Given the description of an element on the screen output the (x, y) to click on. 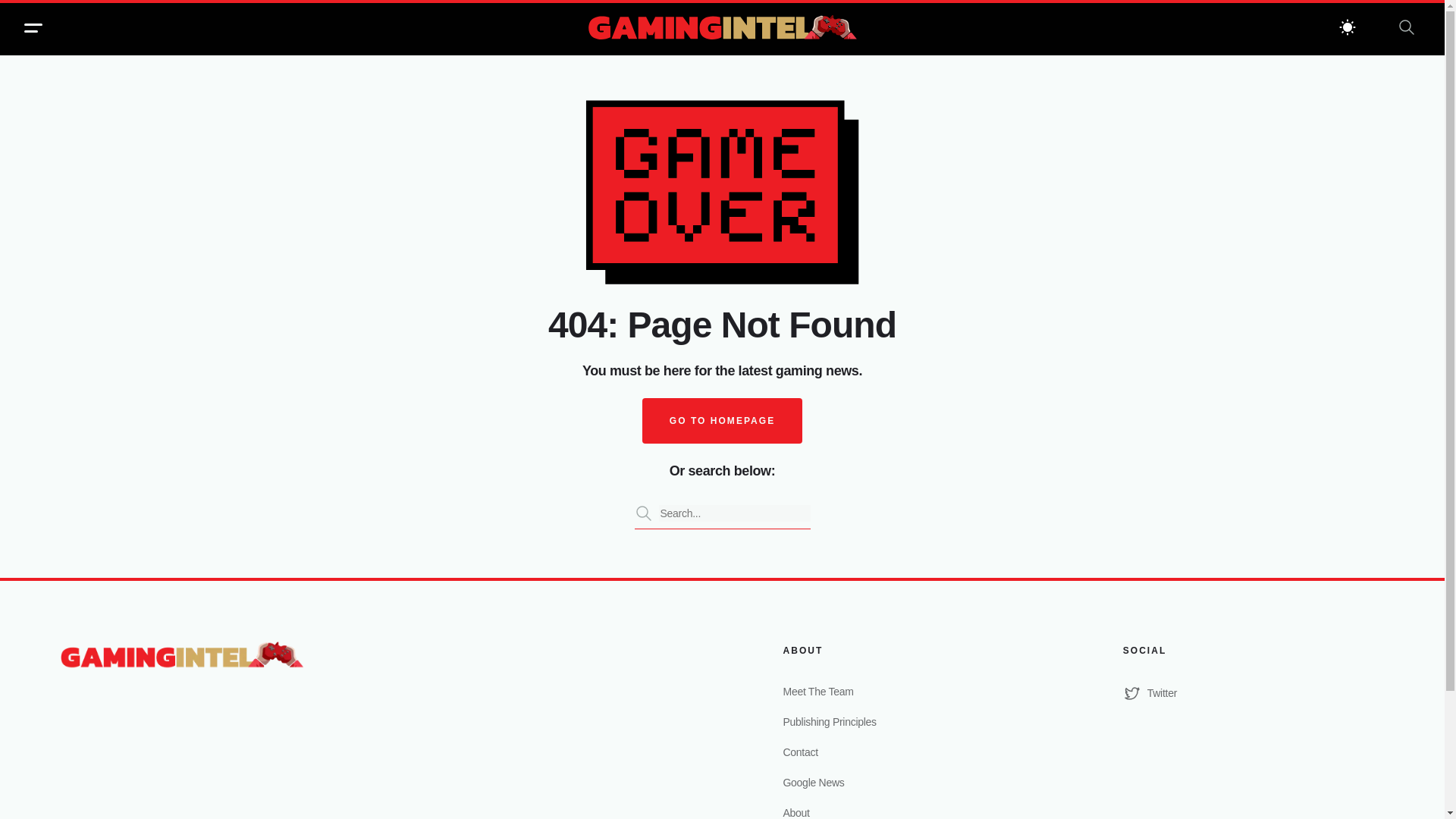
Meet The Team (913, 691)
About (913, 812)
Gaming Intel (722, 28)
Publishing Principles (913, 721)
Google News (913, 782)
GO TO HOMEPAGE (722, 420)
Twitter (1253, 692)
Contact (913, 752)
